Given the description of an element on the screen output the (x, y) to click on. 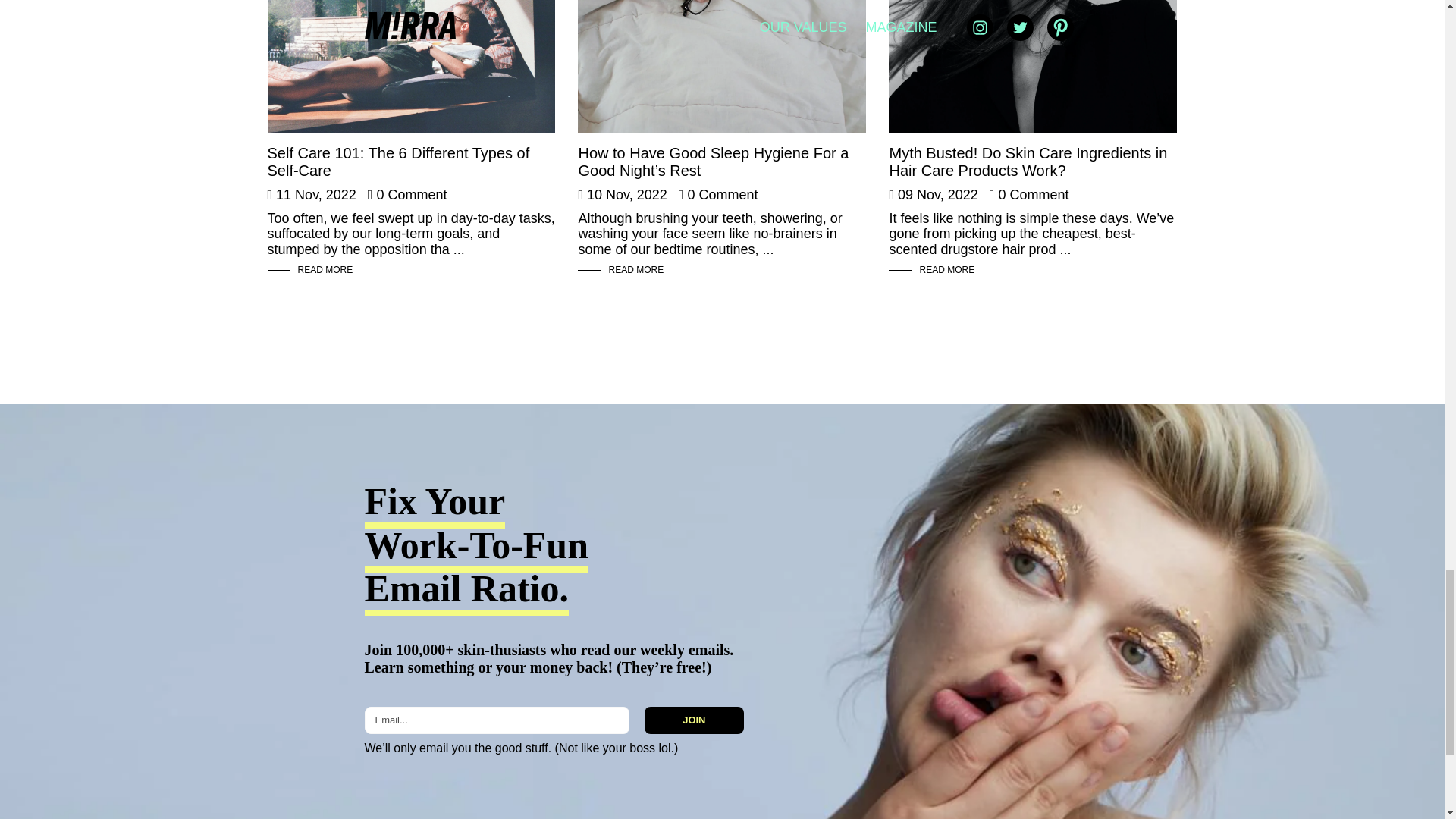
JOIN (693, 719)
READ MORE (324, 269)
Self Care 101: The 6 Different Types of Self-Care (410, 66)
Self Care 101: The 6 Different Types of Self-Care (397, 161)
READ MORE (635, 269)
READ MORE (946, 269)
